Given the description of an element on the screen output the (x, y) to click on. 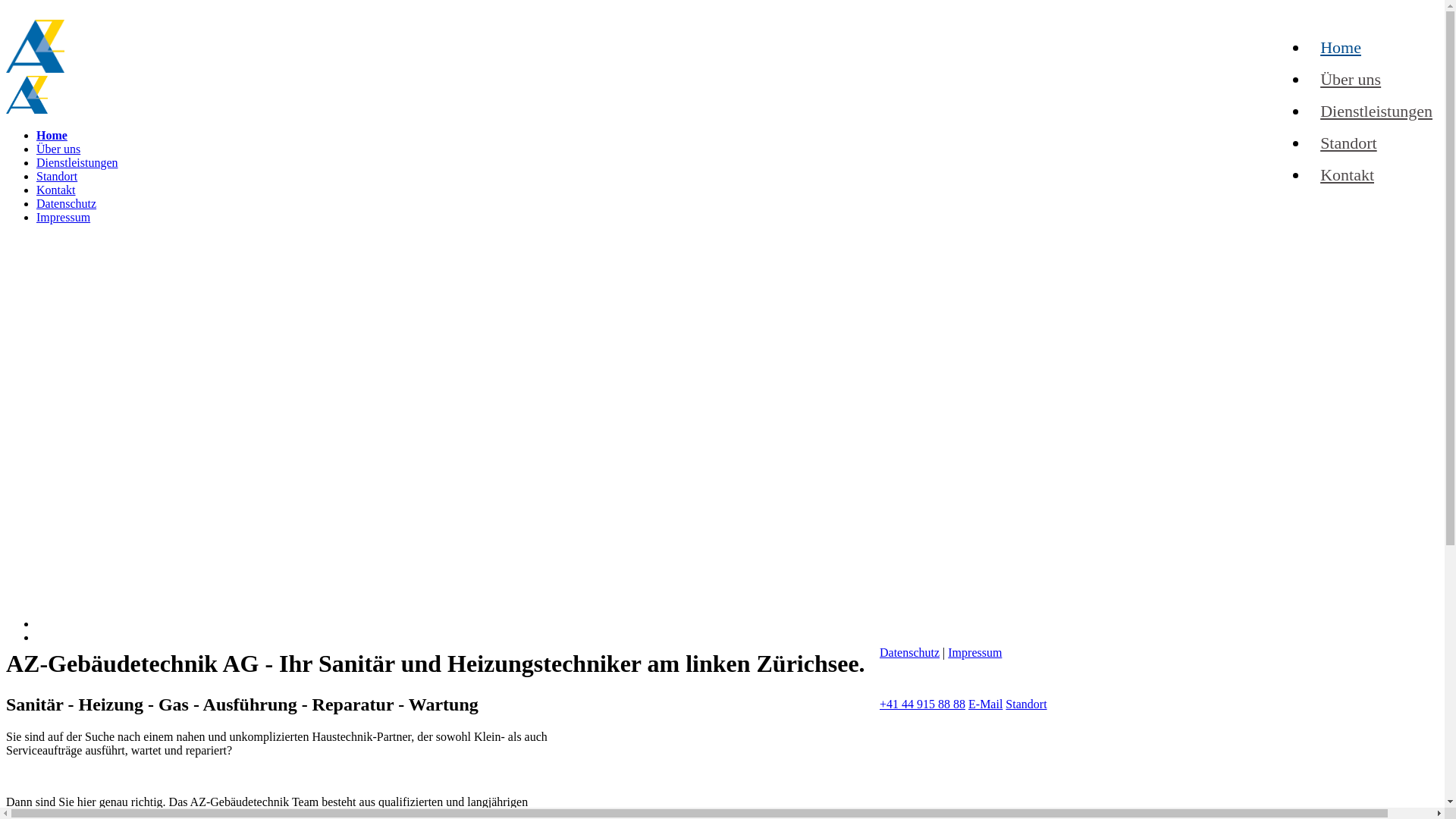
Impressum Element type: text (974, 652)
Home Element type: text (51, 134)
Standort Element type: text (1348, 142)
+41 44 915 88 88 Element type: text (922, 703)
Dienstleistungen Element type: text (77, 162)
Home Element type: text (1340, 46)
Kontakt Element type: text (1347, 174)
Datenschutz Element type: text (66, 203)
Impressum Element type: text (63, 216)
Datenschutz Element type: text (909, 652)
Dienstleistungen Element type: text (1376, 110)
E-Mail Element type: text (985, 703)
Kontakt Element type: text (55, 189)
Standort Element type: text (1025, 703)
Standort Element type: text (56, 175)
